Given the description of an element on the screen output the (x, y) to click on. 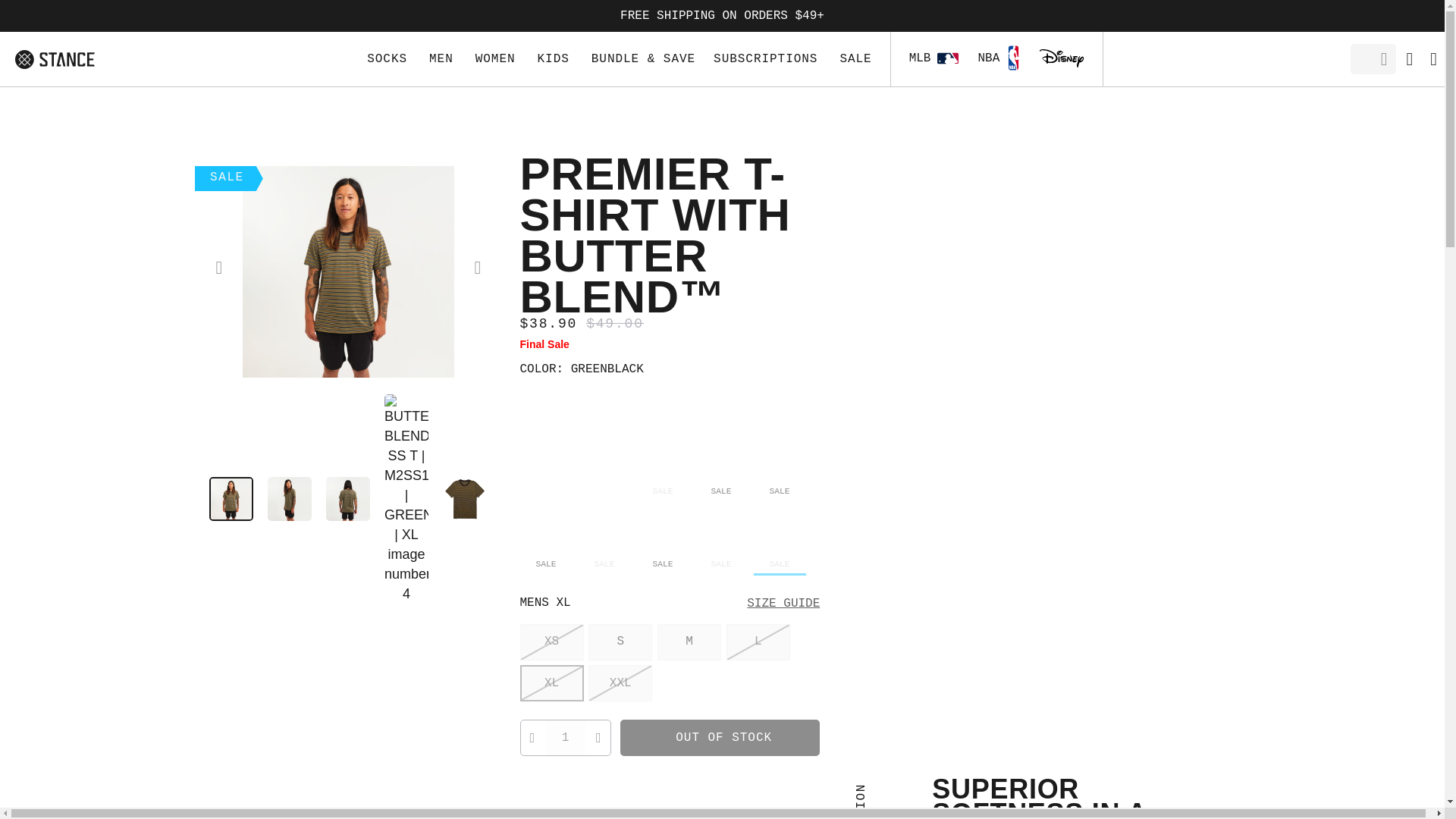
1 (565, 737)
